Given the description of an element on the screen output the (x, y) to click on. 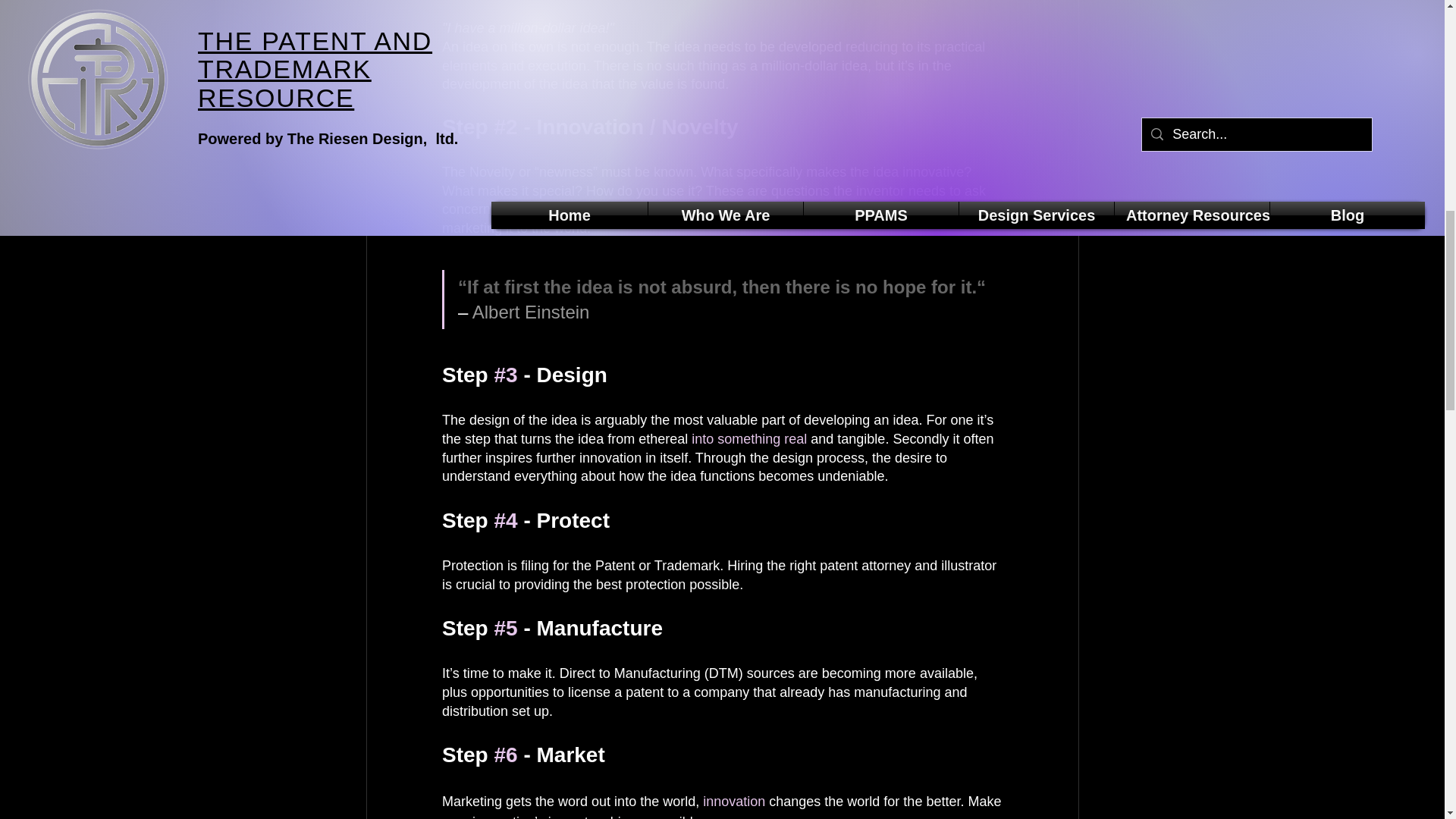
innovation (734, 801)
into something real (748, 438)
reducing to its practical elements (714, 56)
